Given the description of an element on the screen output the (x, y) to click on. 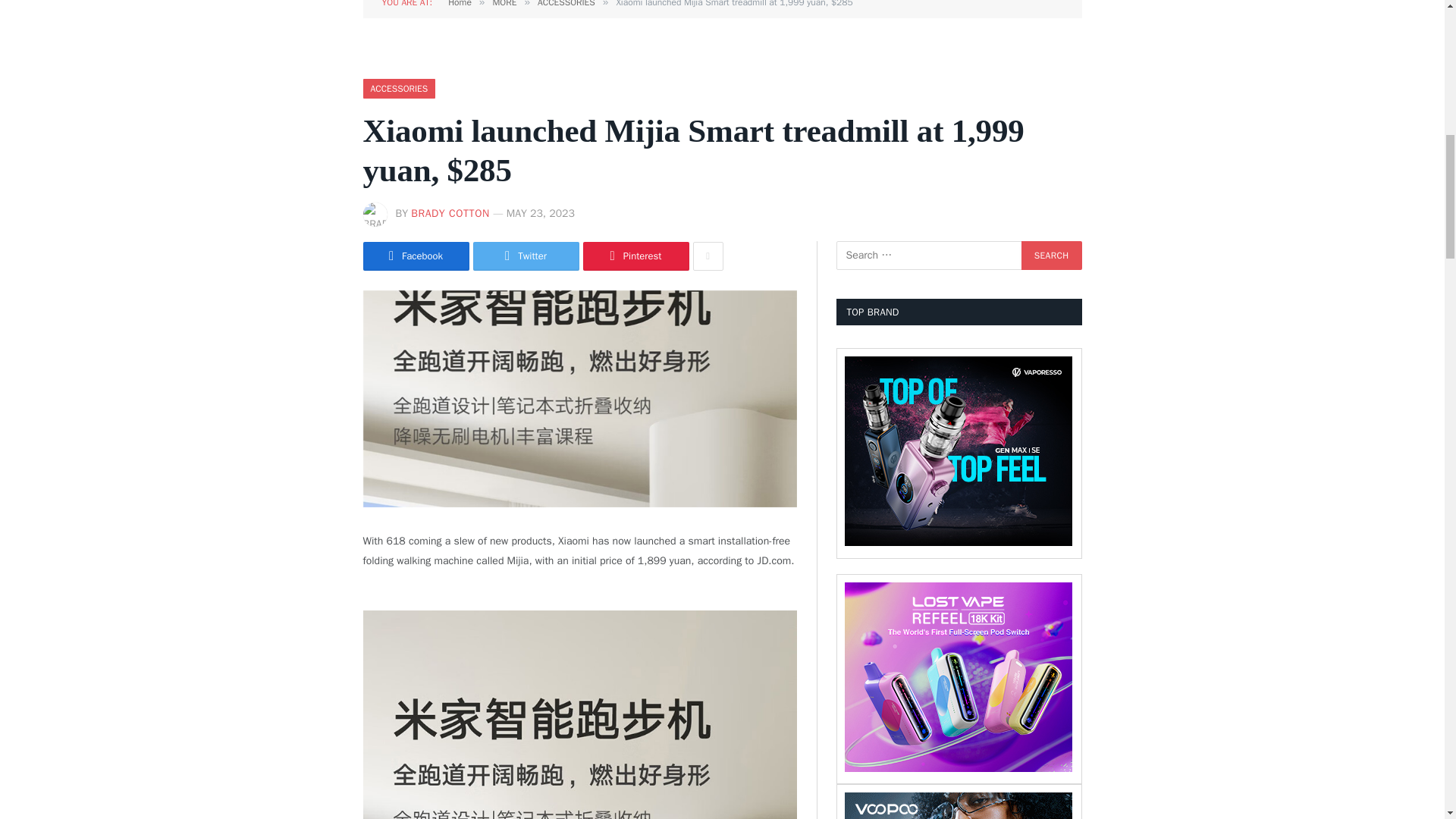
Share on Facebook (415, 256)
Share on Pinterest (635, 256)
Search (1051, 255)
Posts by Brady Cotton (449, 213)
Show More Social Sharing (708, 256)
Share on Twitter (526, 256)
Search (1051, 255)
